Given the description of an element on the screen output the (x, y) to click on. 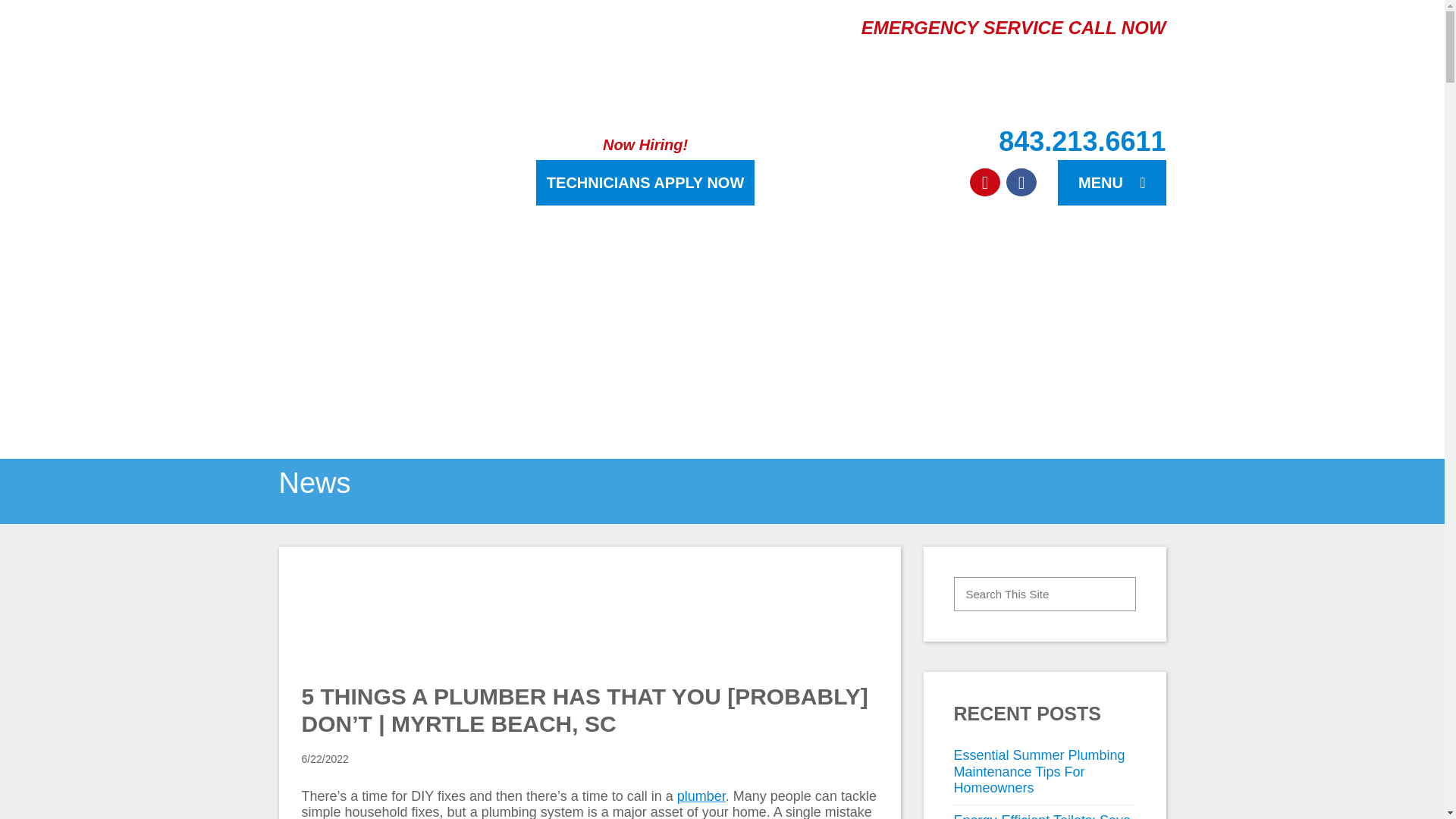
843.213.6611 (964, 141)
TECHNICIANS APPLY NOW (644, 182)
